Given the description of an element on the screen output the (x, y) to click on. 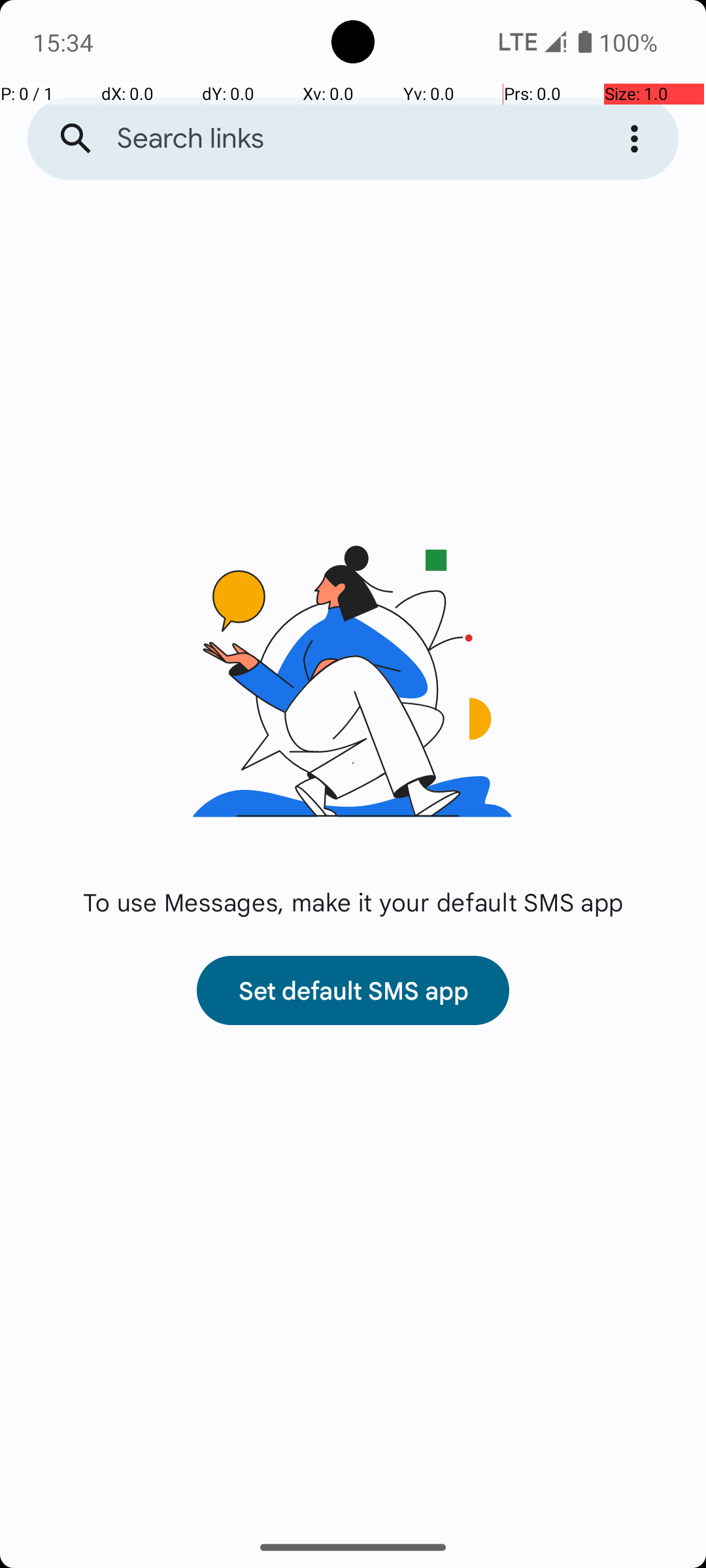
To use Messages, make it your default SMS app Element type: android.widget.TextView (353, 901)
Set default SMS app Element type: android.widget.Button (352, 990)
